Given the description of an element on the screen output the (x, y) to click on. 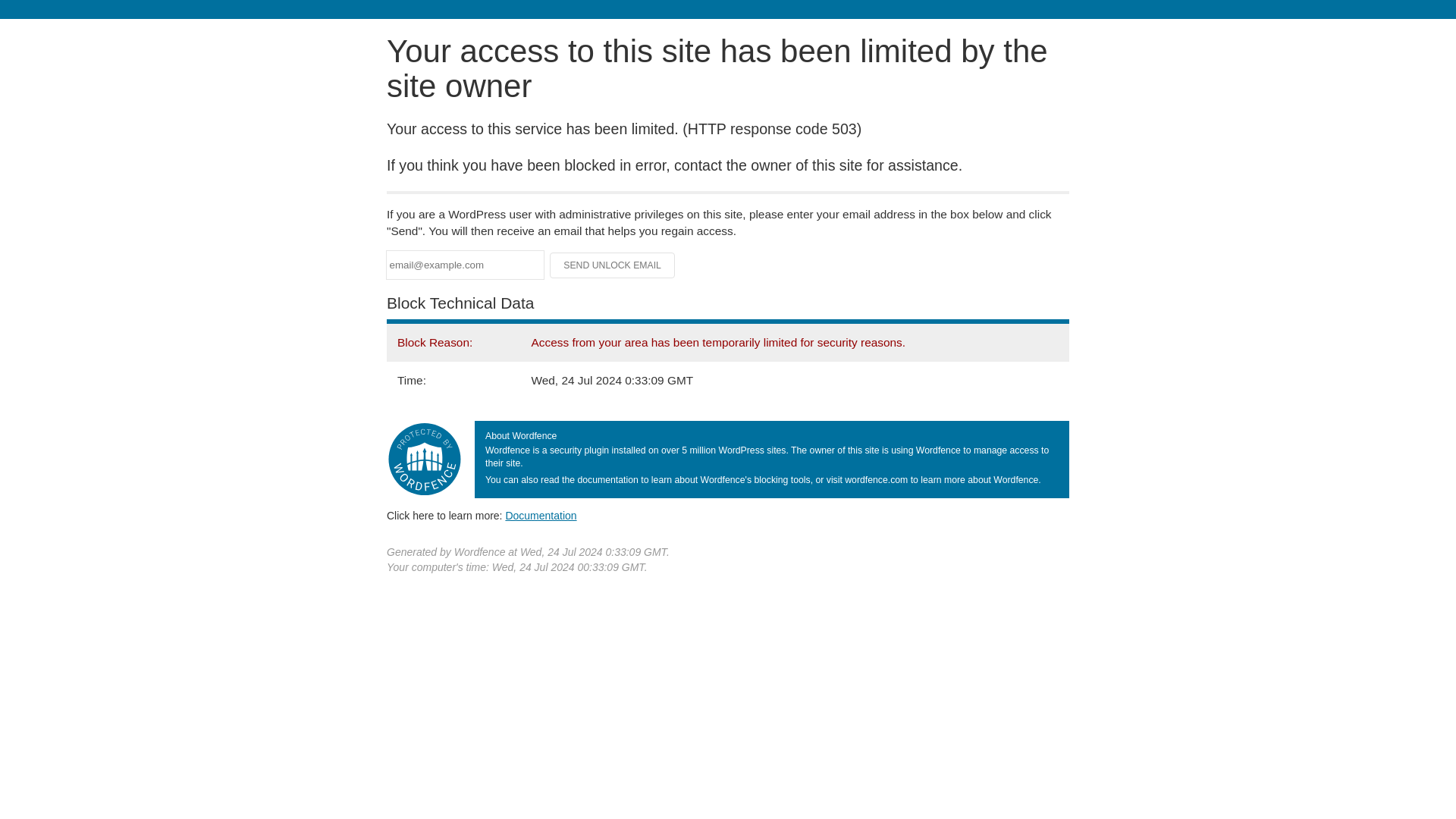
Send Unlock Email (612, 265)
Send Unlock Email (612, 265)
Documentation (540, 515)
